Given the description of an element on the screen output the (x, y) to click on. 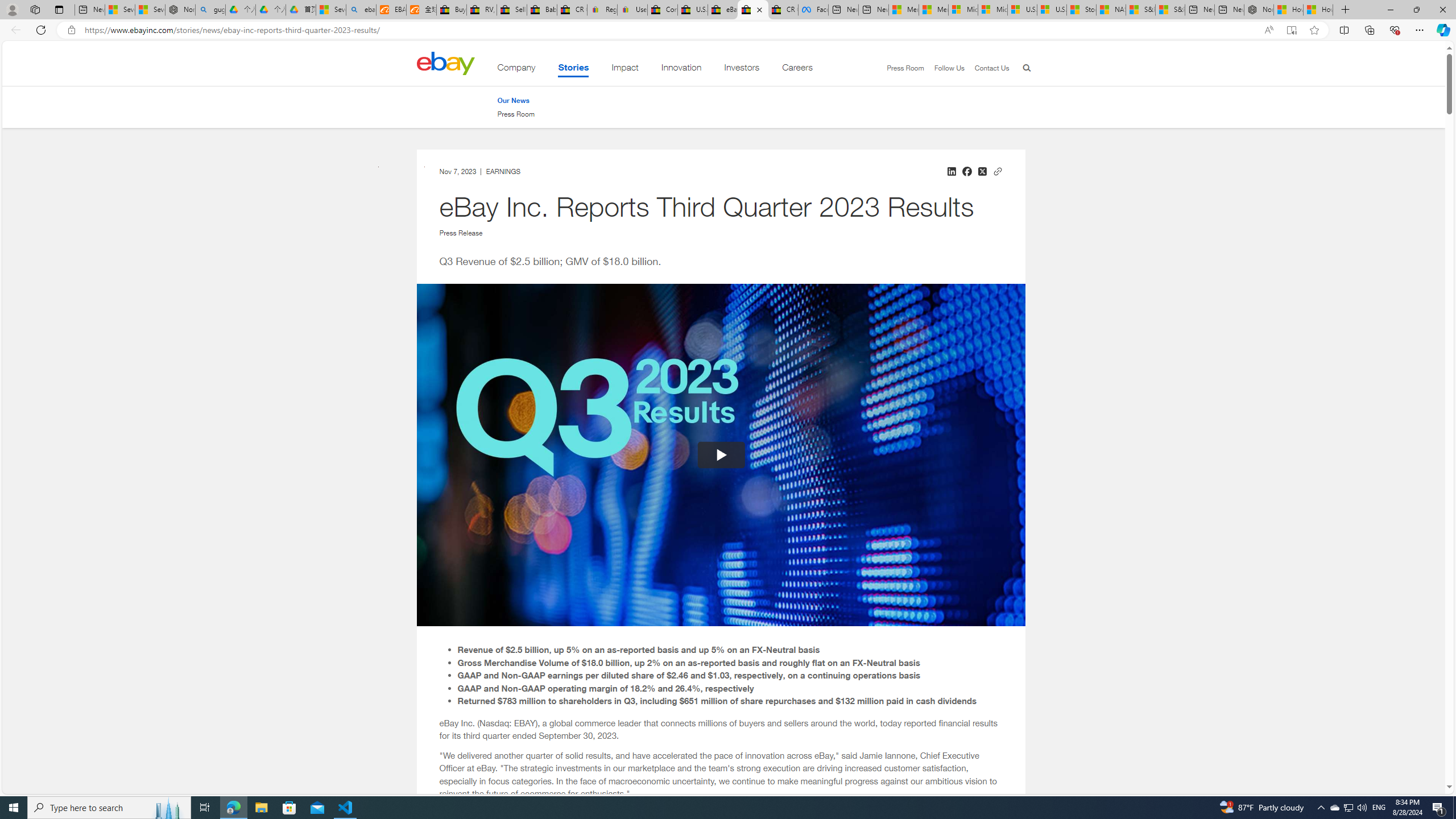
Our News (515, 100)
Company (515, 69)
Minimize (1390, 9)
Share on Facebook (967, 171)
Careers (796, 69)
Innovation (681, 69)
Back (13, 29)
Press Room (515, 113)
